Given the description of an element on the screen output the (x, y) to click on. 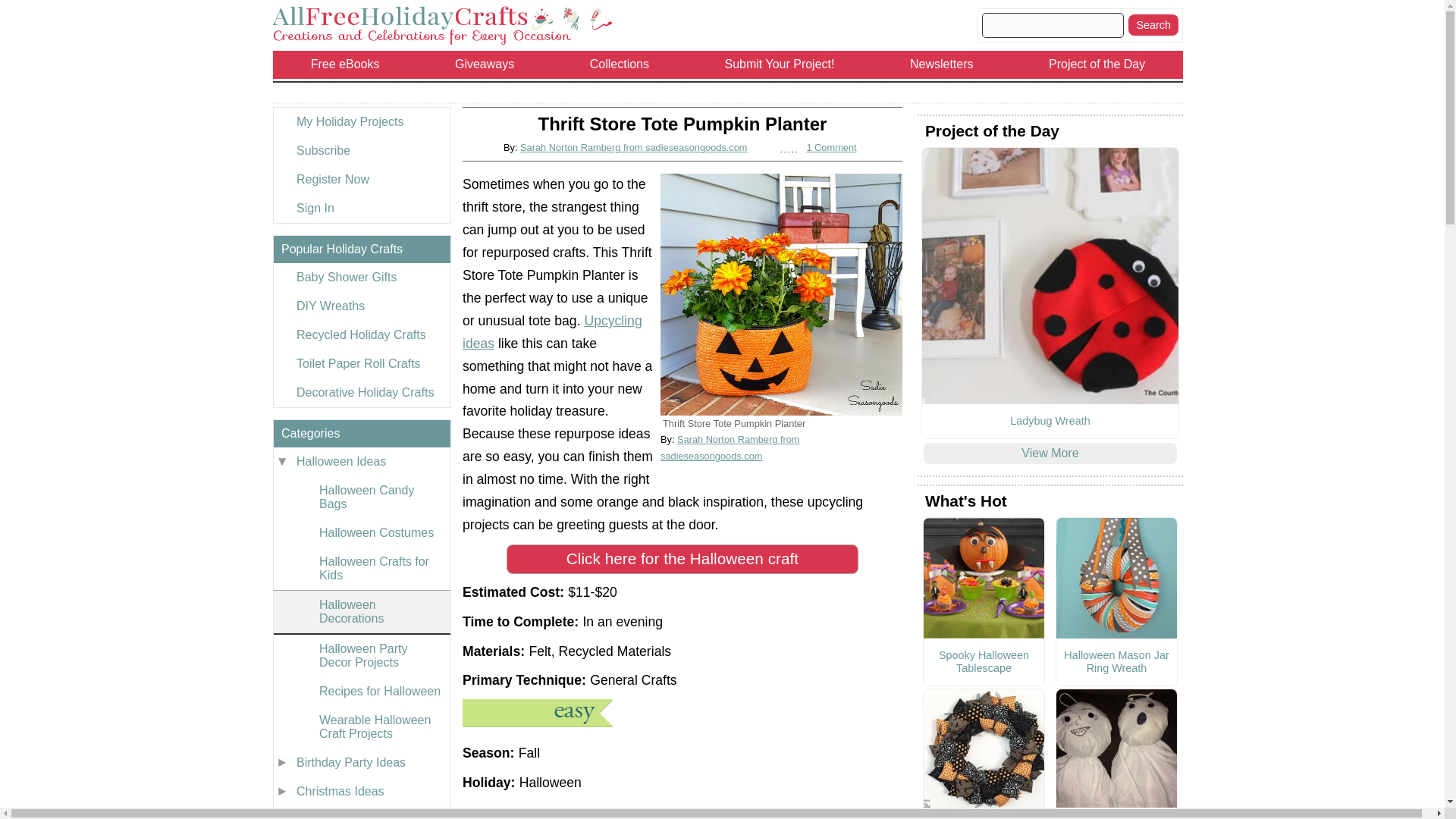
Sign In (361, 208)
Thrift Store Tote Pumpkin Planter (781, 294)
Email (829, 815)
Search (1152, 25)
Subscribe (361, 150)
My Holiday Projects (361, 121)
Facebook (682, 815)
Register Now (361, 179)
Recycled Crafts (552, 331)
